Given the description of an element on the screen output the (x, y) to click on. 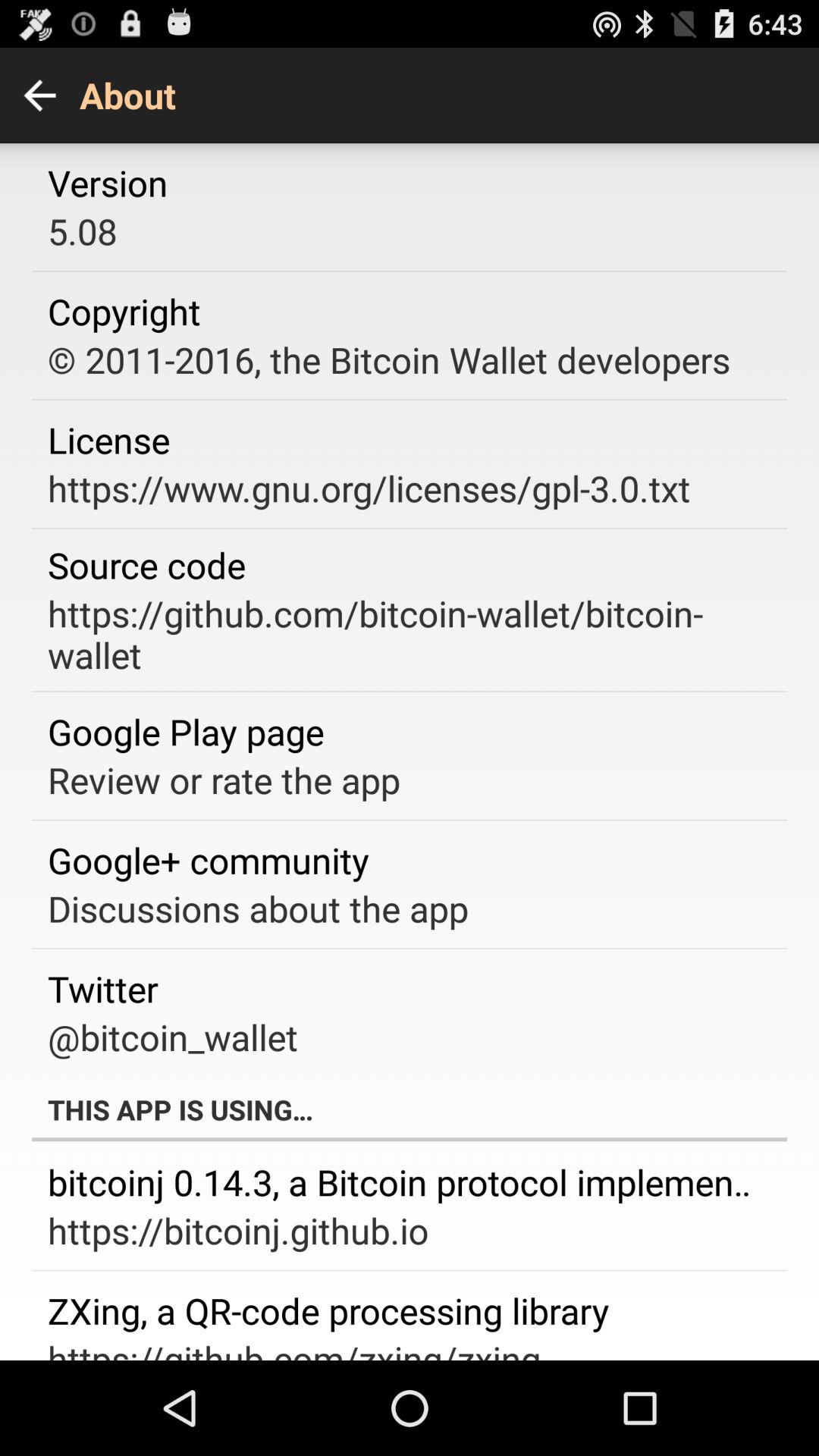
scroll to discussions about the (257, 908)
